Given the description of an element on the screen output the (x, y) to click on. 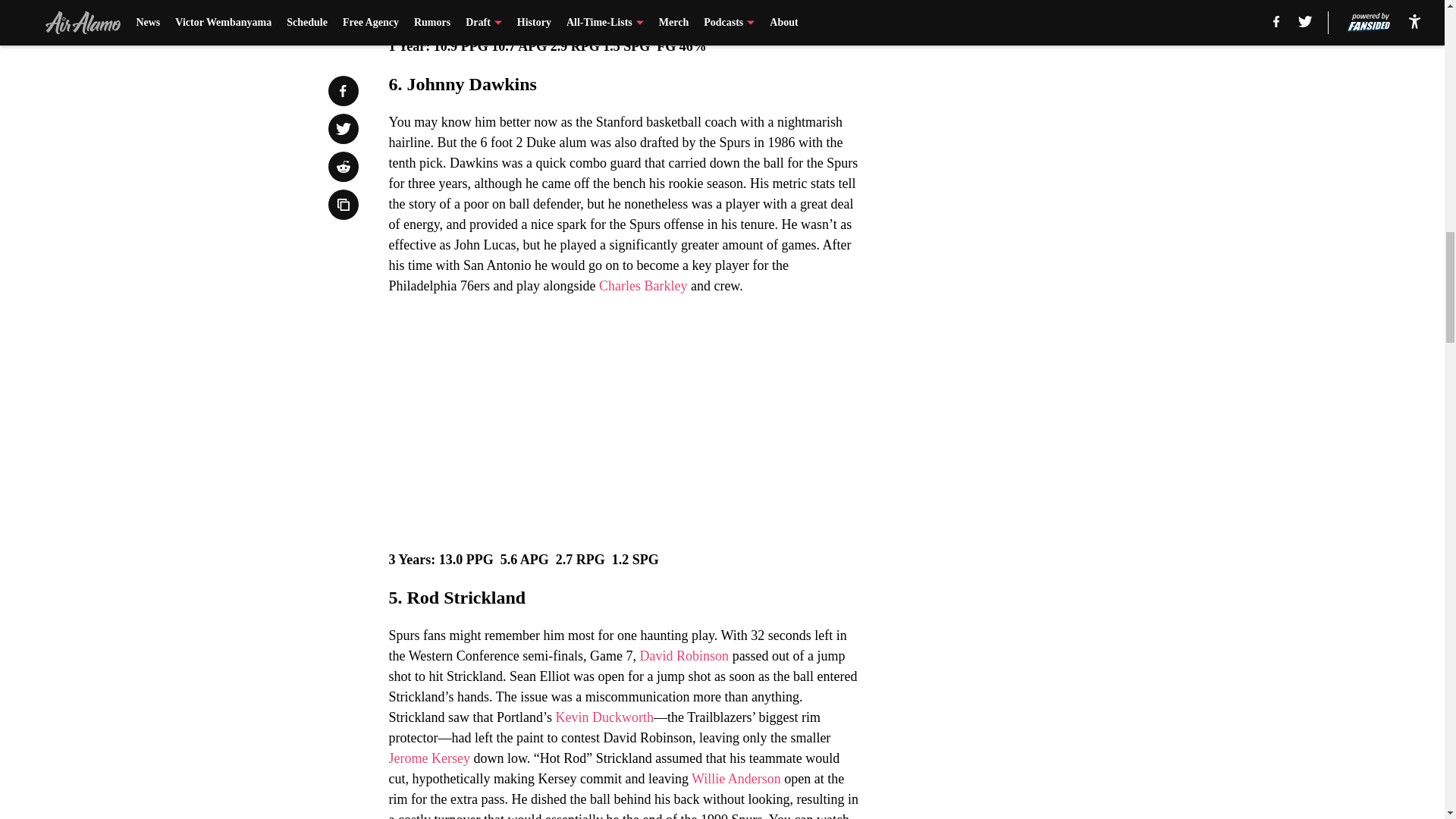
Willie Anderson (735, 778)
Jerome Kersey (428, 758)
Kevin Duckworth (603, 717)
Charles Barkley (642, 285)
David Robinson (684, 655)
